Given the description of an element on the screen output the (x, y) to click on. 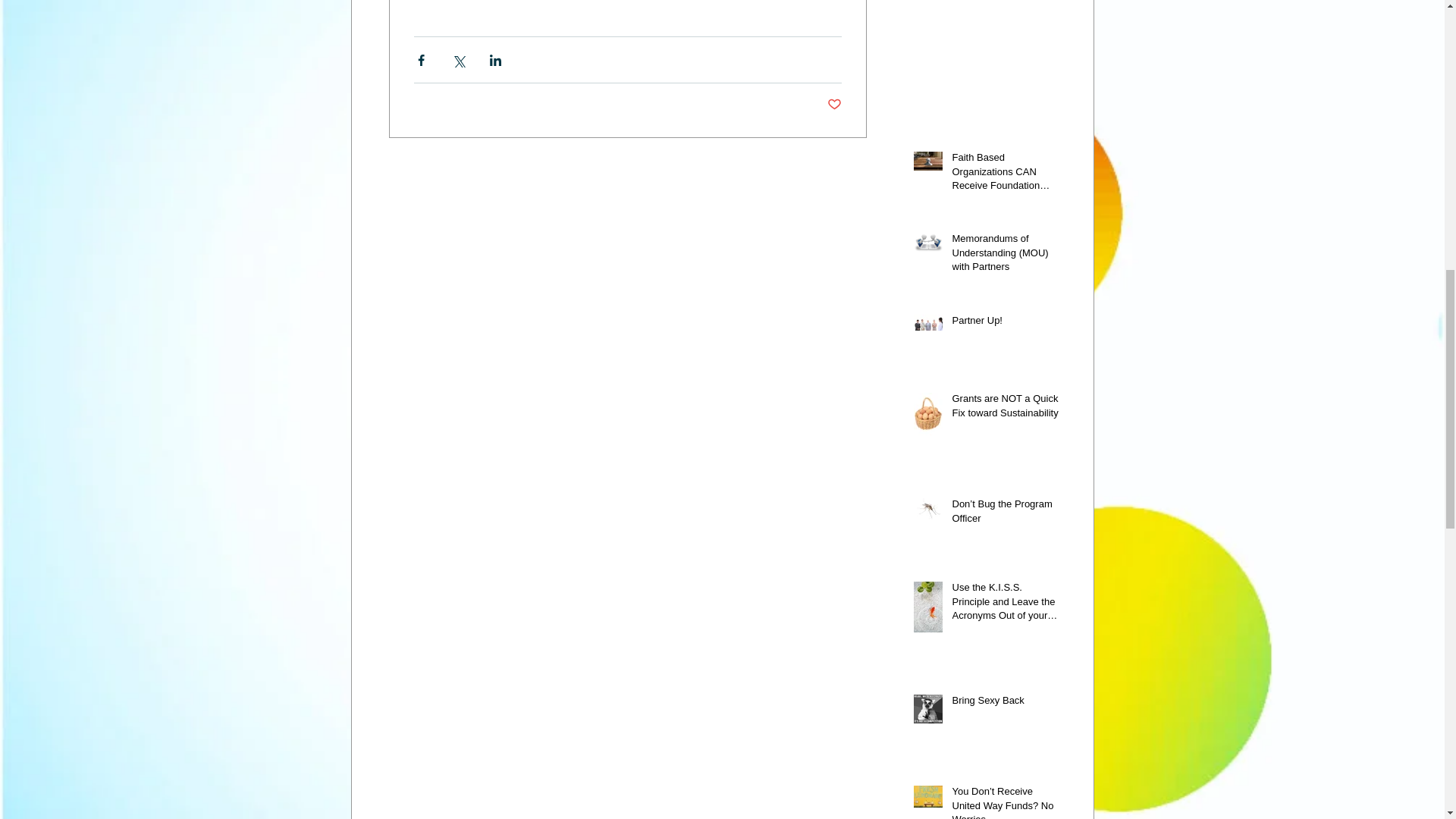
Partner Up! (1006, 323)
Grants are NOT a Quick Fix toward Sustainability (1006, 408)
Bring Sexy Back (1006, 703)
Faith Based Organizations CAN Receive Foundation Funding (1006, 174)
Post not marked as liked (834, 105)
